Given the description of an element on the screen output the (x, y) to click on. 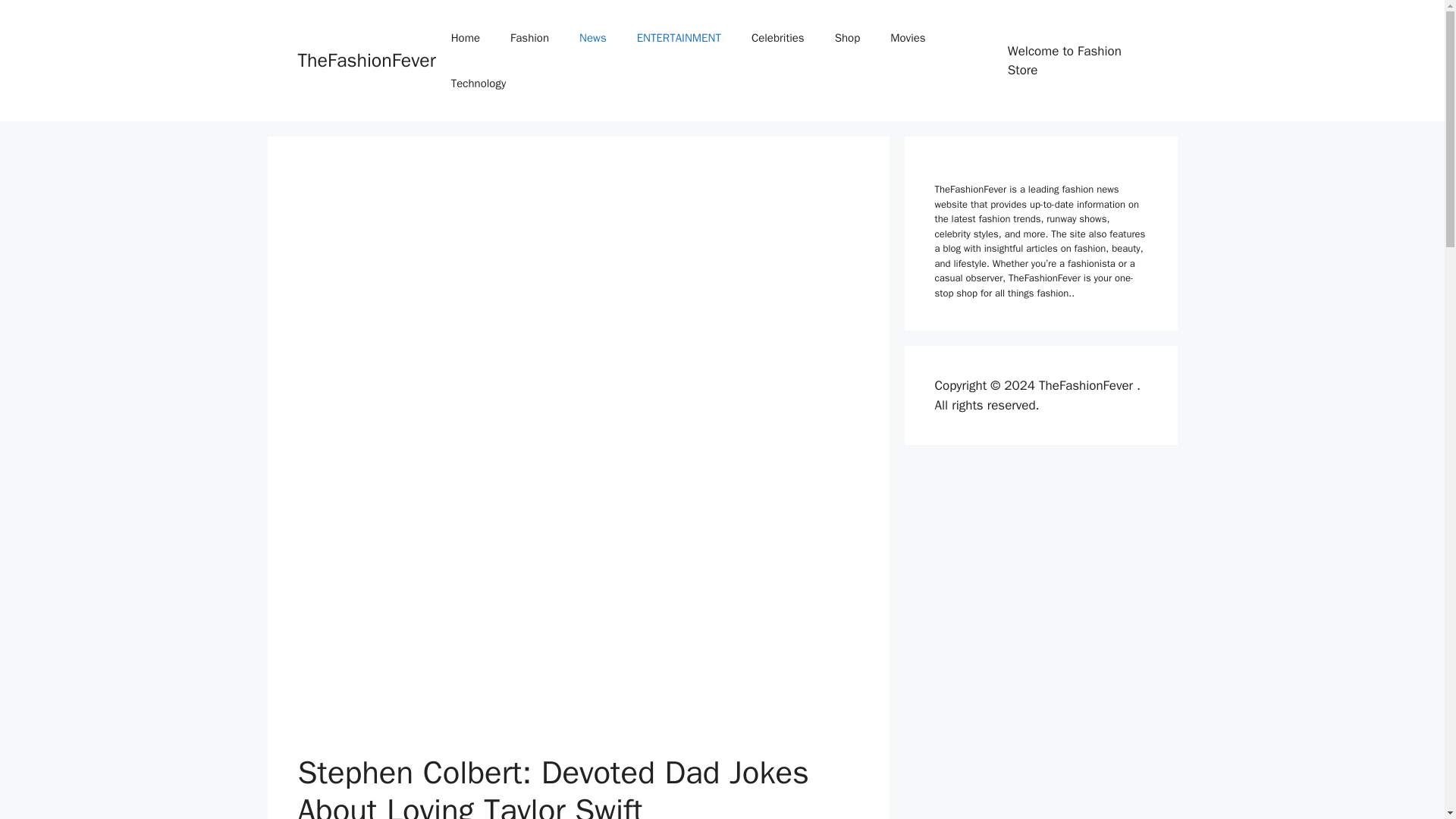
News (592, 37)
TheFashionFever (366, 60)
Fashion (529, 37)
Celebrities (777, 37)
Shop (847, 37)
Movies (907, 37)
Home (465, 37)
ENTERTAINMENT (678, 37)
Technology (478, 83)
